Given the description of an element on the screen output the (x, y) to click on. 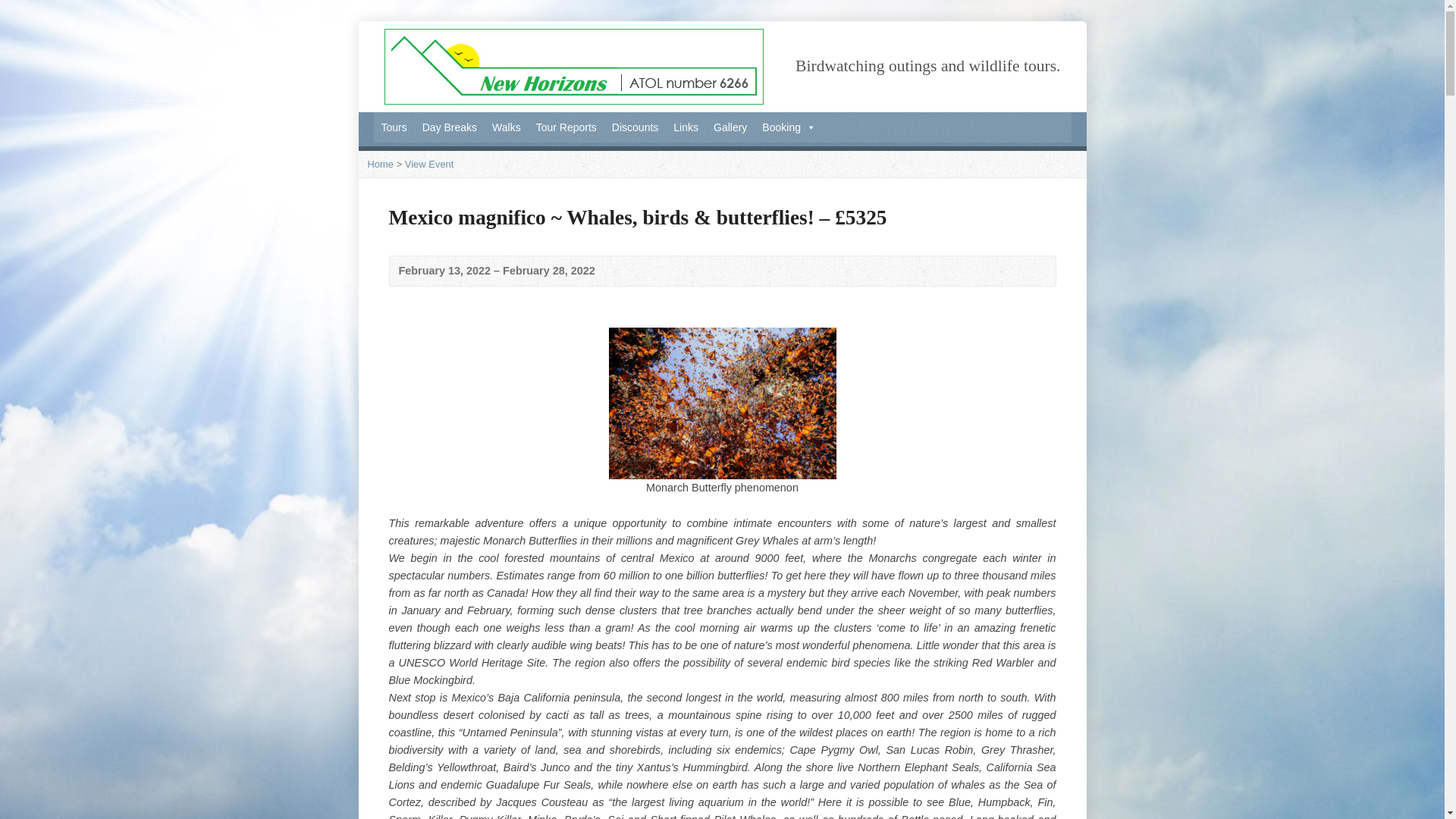
Home (379, 163)
Gallery (730, 127)
Links (685, 127)
Booking (789, 127)
Walks (506, 127)
Tours (392, 127)
Discounts (634, 127)
Tour Reports (566, 127)
Day Breaks (449, 127)
View Event (429, 163)
